Given the description of an element on the screen output the (x, y) to click on. 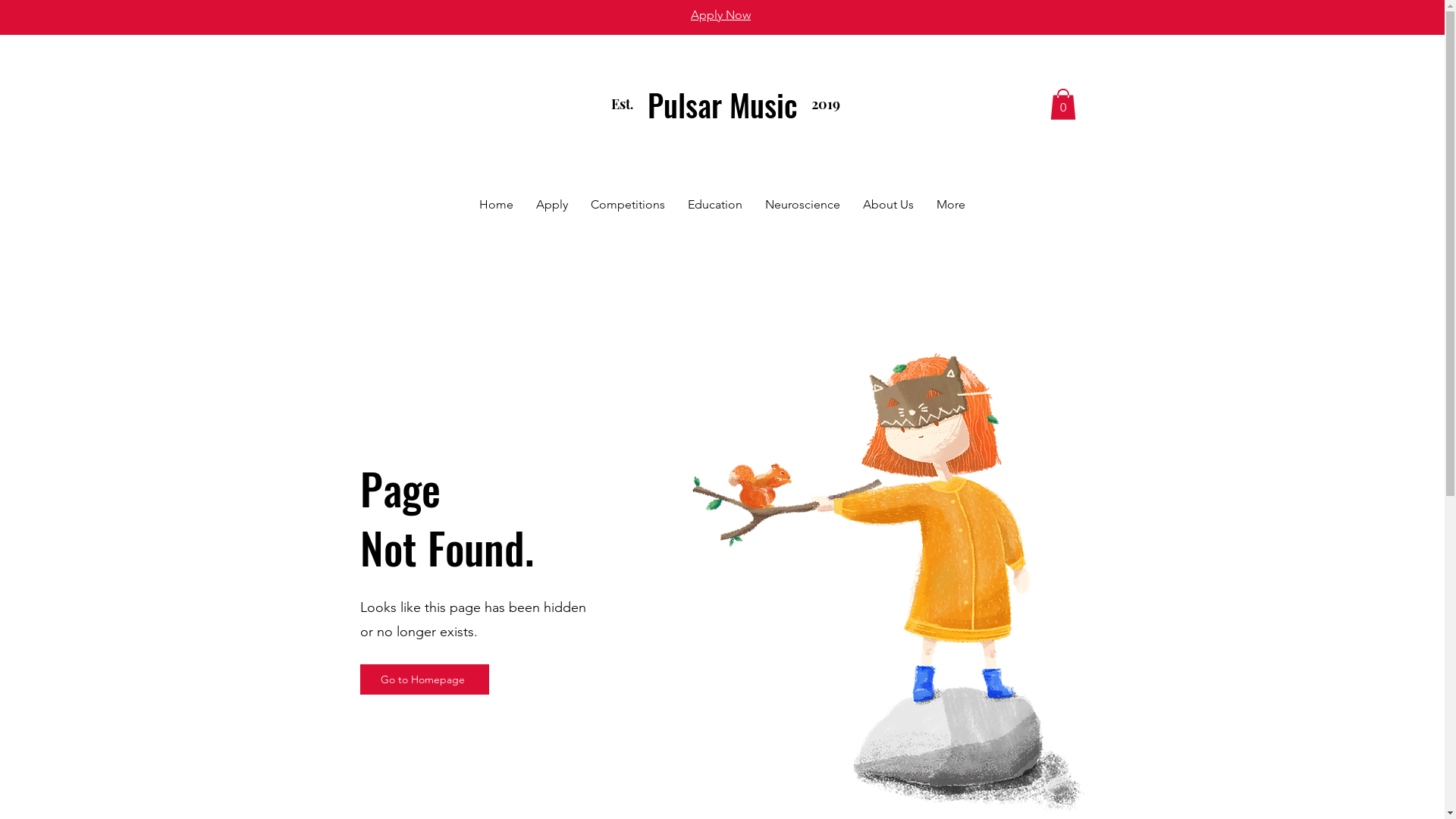
Neuroscience Element type: text (802, 206)
Apply Now Element type: text (720, 14)
Pulsar Music Element type: text (722, 104)
0 Element type: text (1062, 103)
Home Element type: text (495, 206)
Go to Homepage Element type: text (423, 679)
Apply Element type: text (551, 206)
Education Element type: text (714, 206)
